Given the description of an element on the screen output the (x, y) to click on. 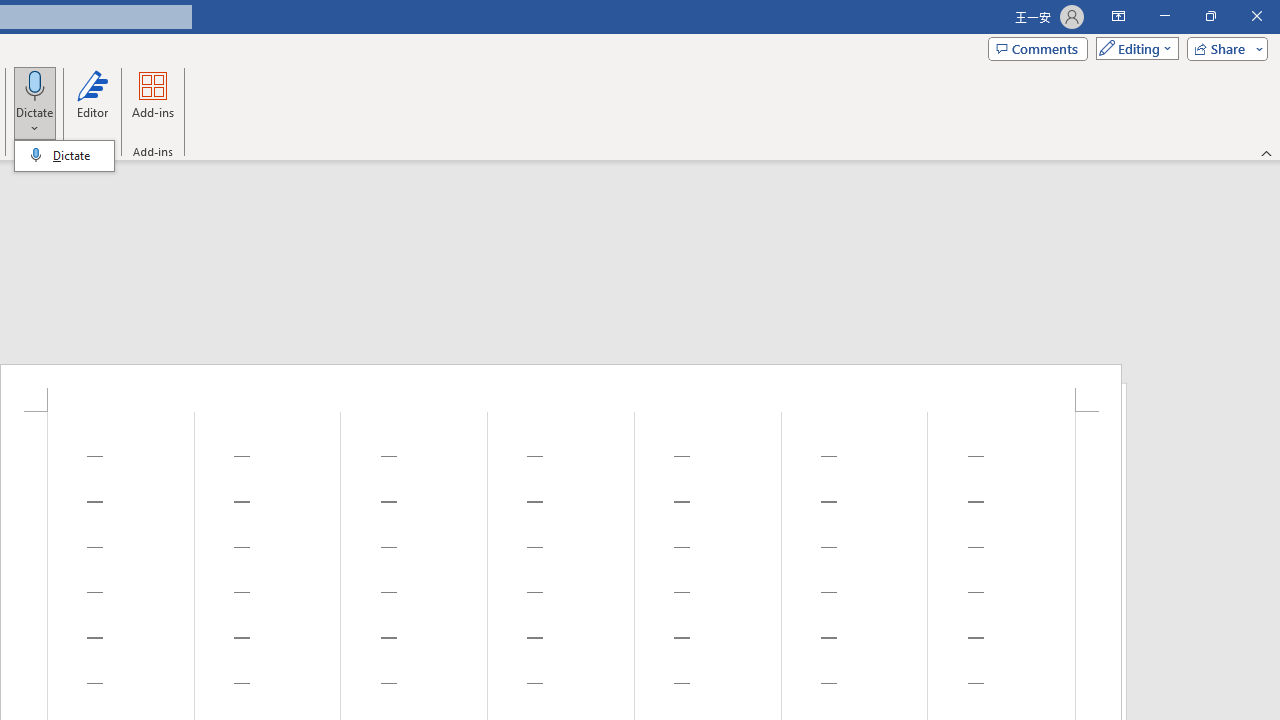
Header -Section 1- (561, 387)
Close (1256, 16)
&Dictate (64, 155)
Editor (92, 102)
Dictate (35, 102)
Comments (1038, 48)
More Options (35, 121)
Restore Down (1210, 16)
Share (1223, 48)
Ribbon Display Options (1118, 16)
Minimize (1164, 16)
Mode (1133, 47)
Collapse the Ribbon (1267, 152)
